Given the description of an element on the screen output the (x, y) to click on. 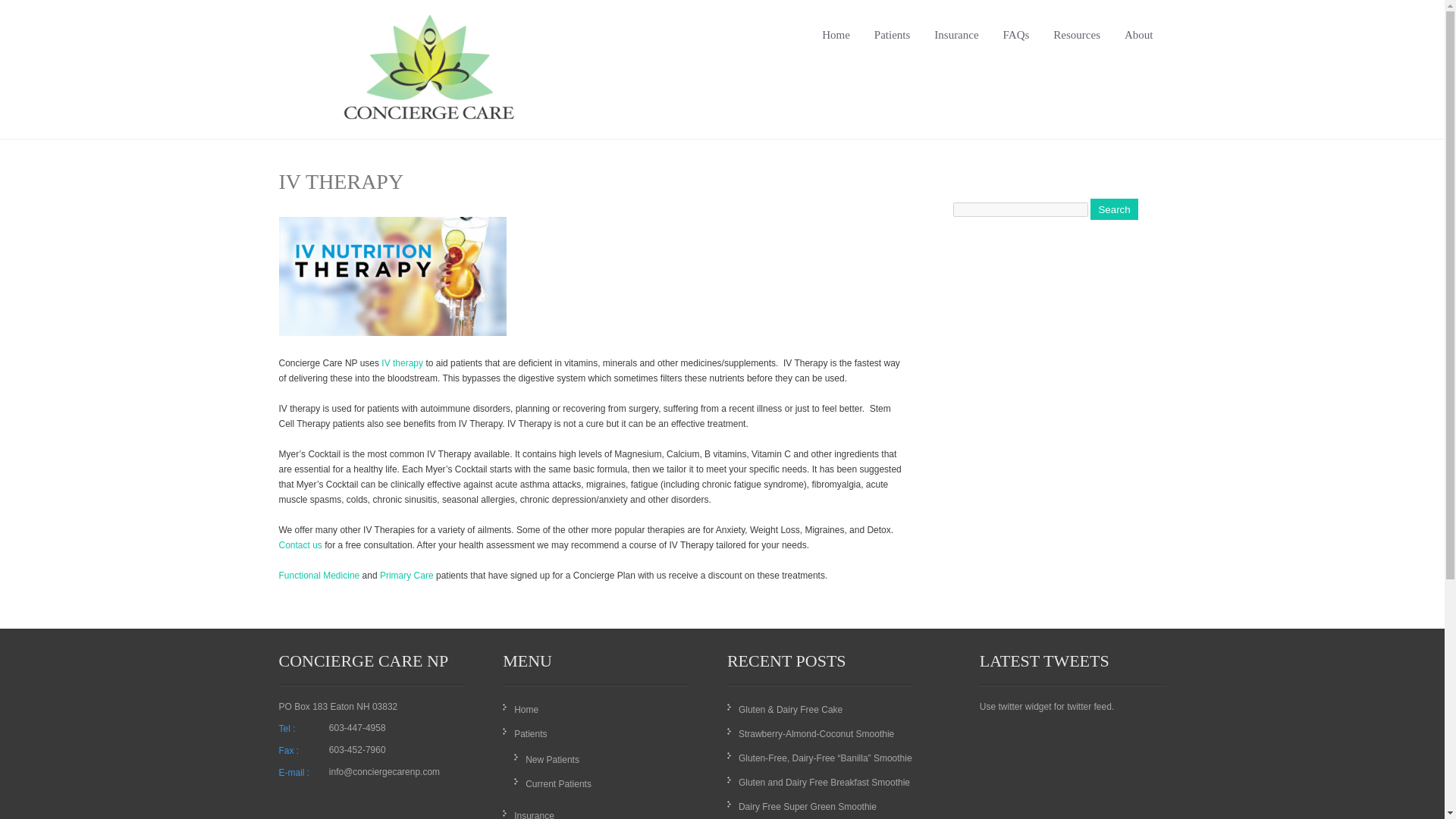
Search (1113, 209)
Patients (892, 45)
Current Patients (558, 783)
IV therapy (402, 362)
Contact us (300, 544)
About (1138, 45)
Insurance (956, 45)
Home (835, 45)
Functional Medicine (319, 575)
FAQs (1016, 45)
Home (525, 709)
Resources (1077, 45)
Primary Care (406, 575)
Patients (530, 733)
Insurance (533, 814)
